Given the description of an element on the screen output the (x, y) to click on. 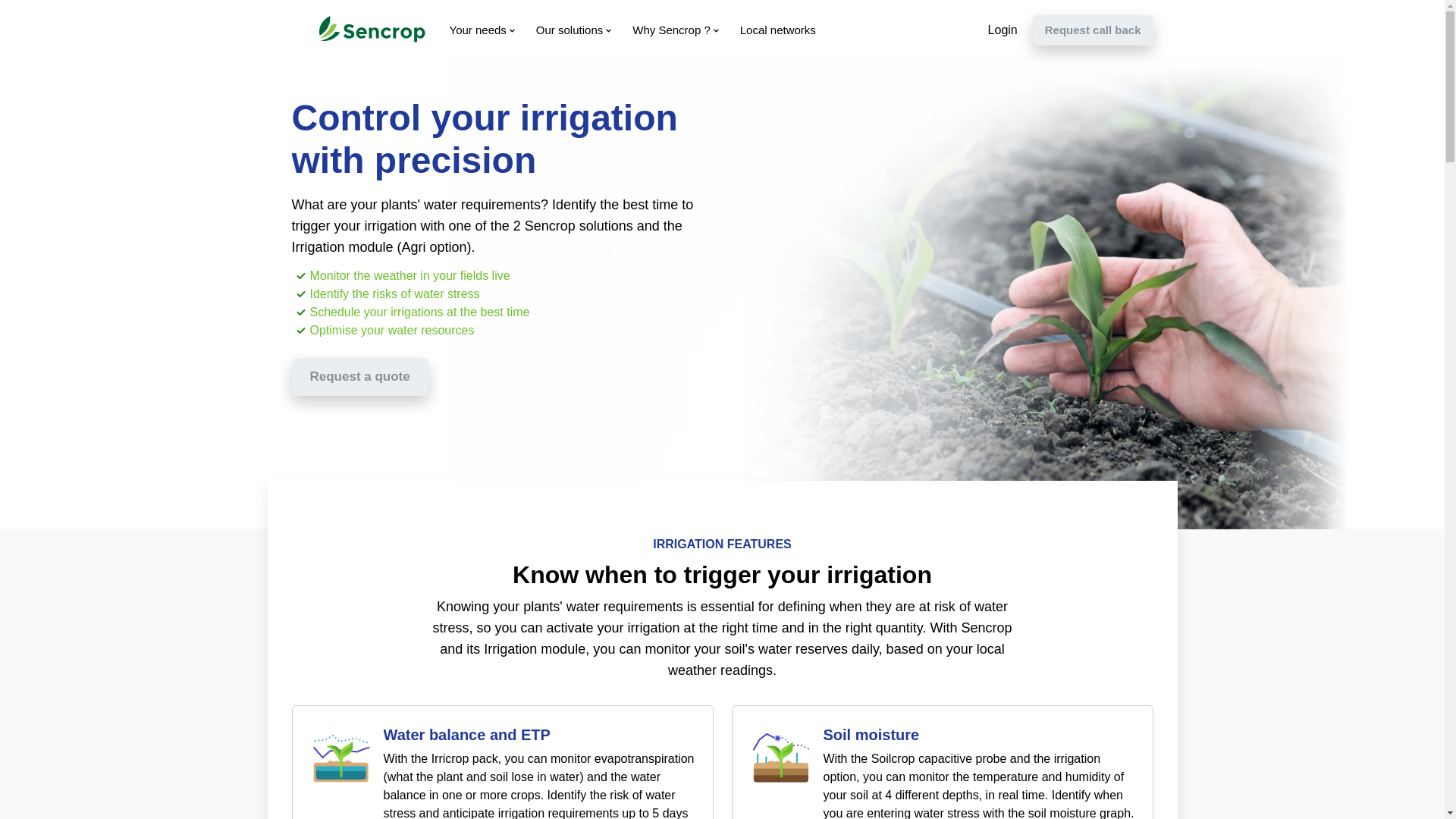
Why Sencrop ? (674, 30)
Our solutions (572, 30)
Local networks (775, 30)
Request a quote (359, 376)
Request call back (1092, 30)
Your needs (479, 30)
